Given the description of an element on the screen output the (x, y) to click on. 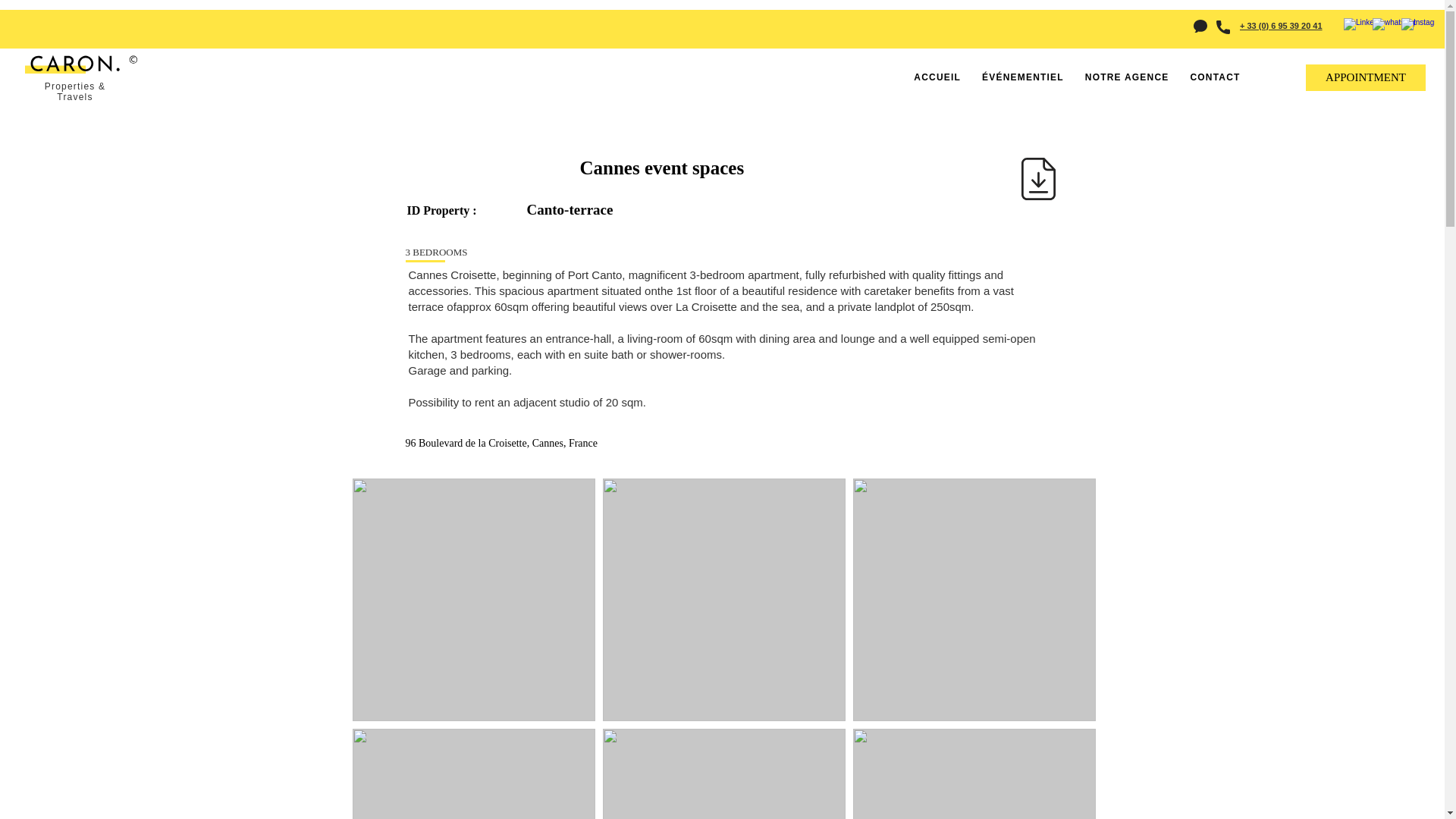
ACCUEIL (936, 77)
NOTRE AGENCE (1126, 77)
CONTACT (1214, 77)
APPOINTMENT (1365, 77)
